Given the description of an element on the screen output the (x, y) to click on. 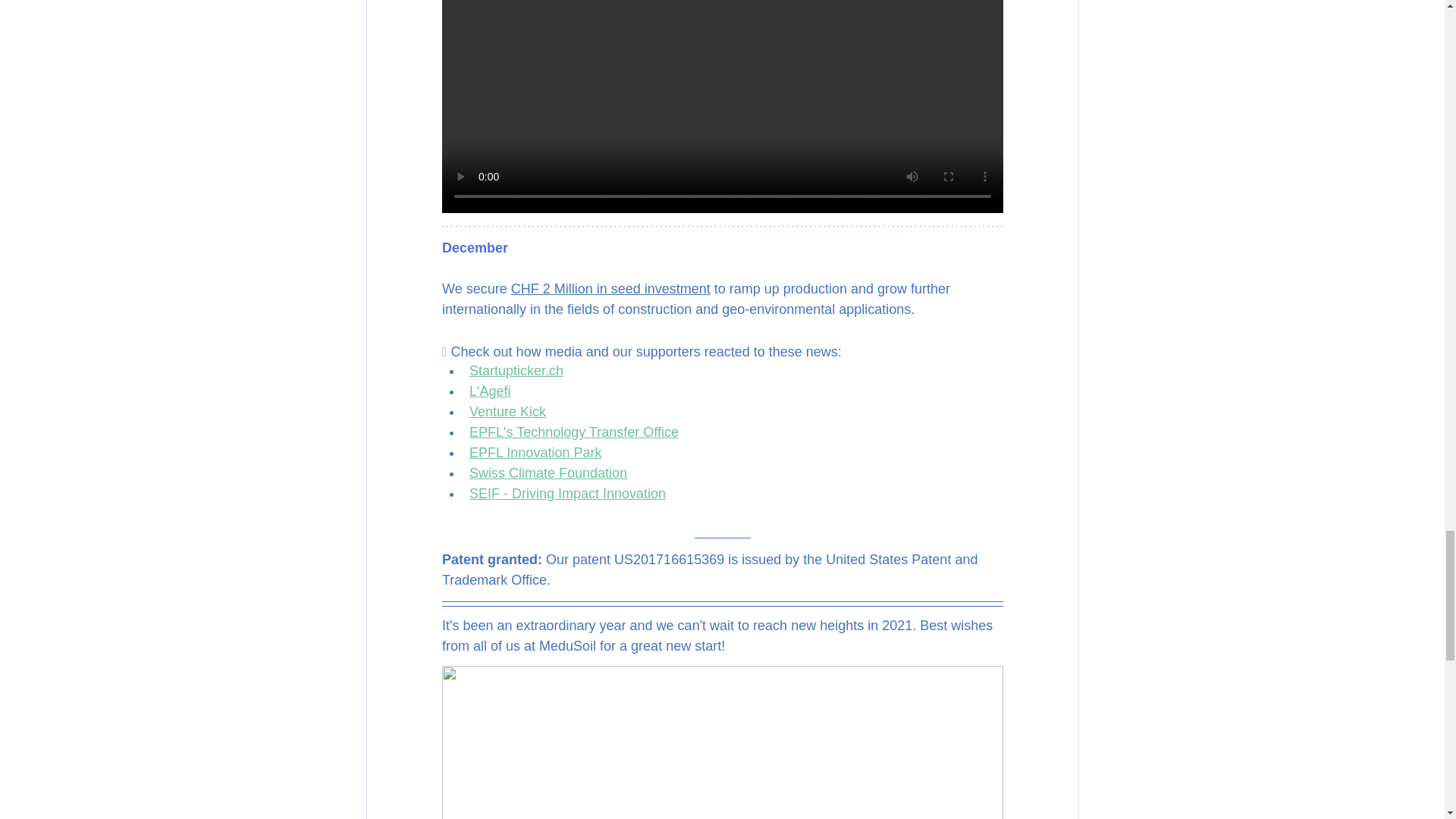
EPFL's Technology Transfer Office (573, 432)
SEIF - Driving Impact Innovation (566, 493)
EPFL Innovation Park (533, 452)
CHF 2 Million in seed investment (610, 288)
Venture Kick (506, 411)
Swiss Climate Foundation (547, 473)
L'Agefi (488, 391)
Startupticker.ch (515, 370)
